Given the description of an element on the screen output the (x, y) to click on. 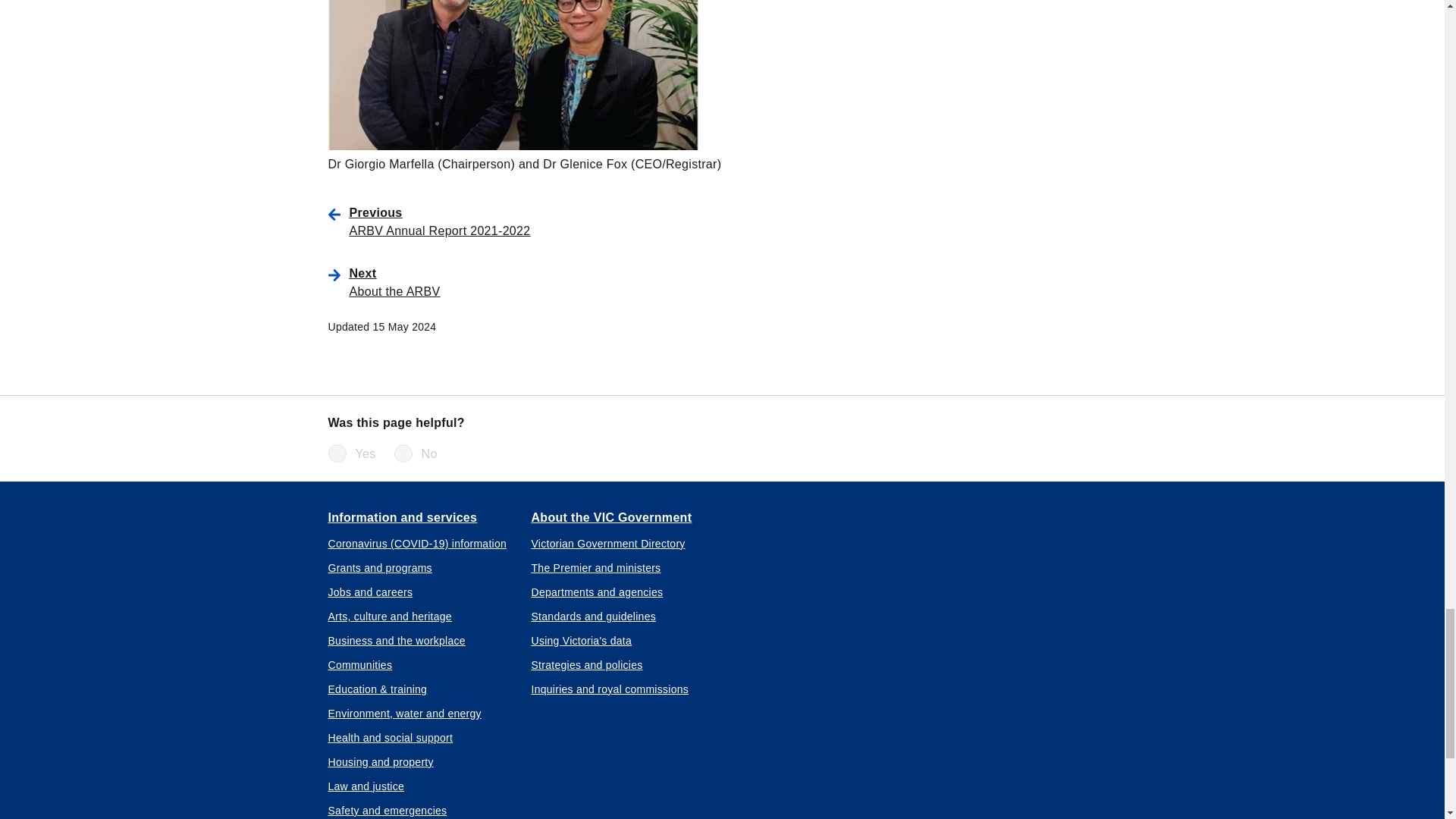
Law and justice (365, 785)
Arts, culture and heritage (389, 616)
NextAbout the ARBV (563, 282)
Jobs and careers (369, 591)
Housing and property (379, 761)
Information and services (402, 517)
Environment, water and energy (403, 713)
Business and the workplace (395, 640)
Health and social support (389, 737)
PreviousARBV Annual Report 2021-2022 (563, 221)
